Given the description of an element on the screen output the (x, y) to click on. 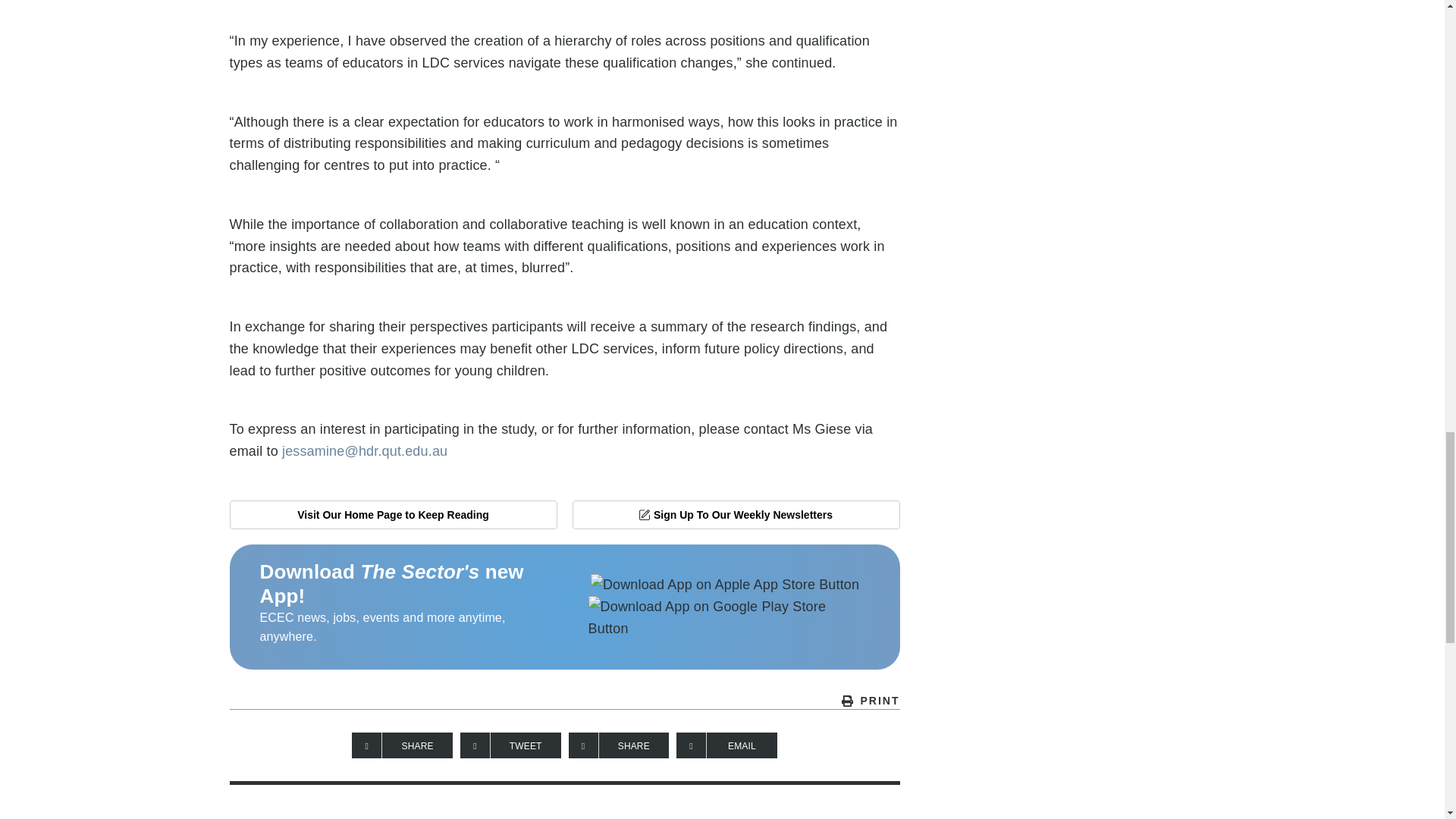
Share on Email (727, 745)
Sign Up To Our Weekly Newsletters (735, 514)
Tweet (510, 745)
Share on LinkedIn (619, 745)
Share on Facebook (402, 745)
Visit Our Home Page to Keep Reading (392, 514)
